Given the description of an element on the screen output the (x, y) to click on. 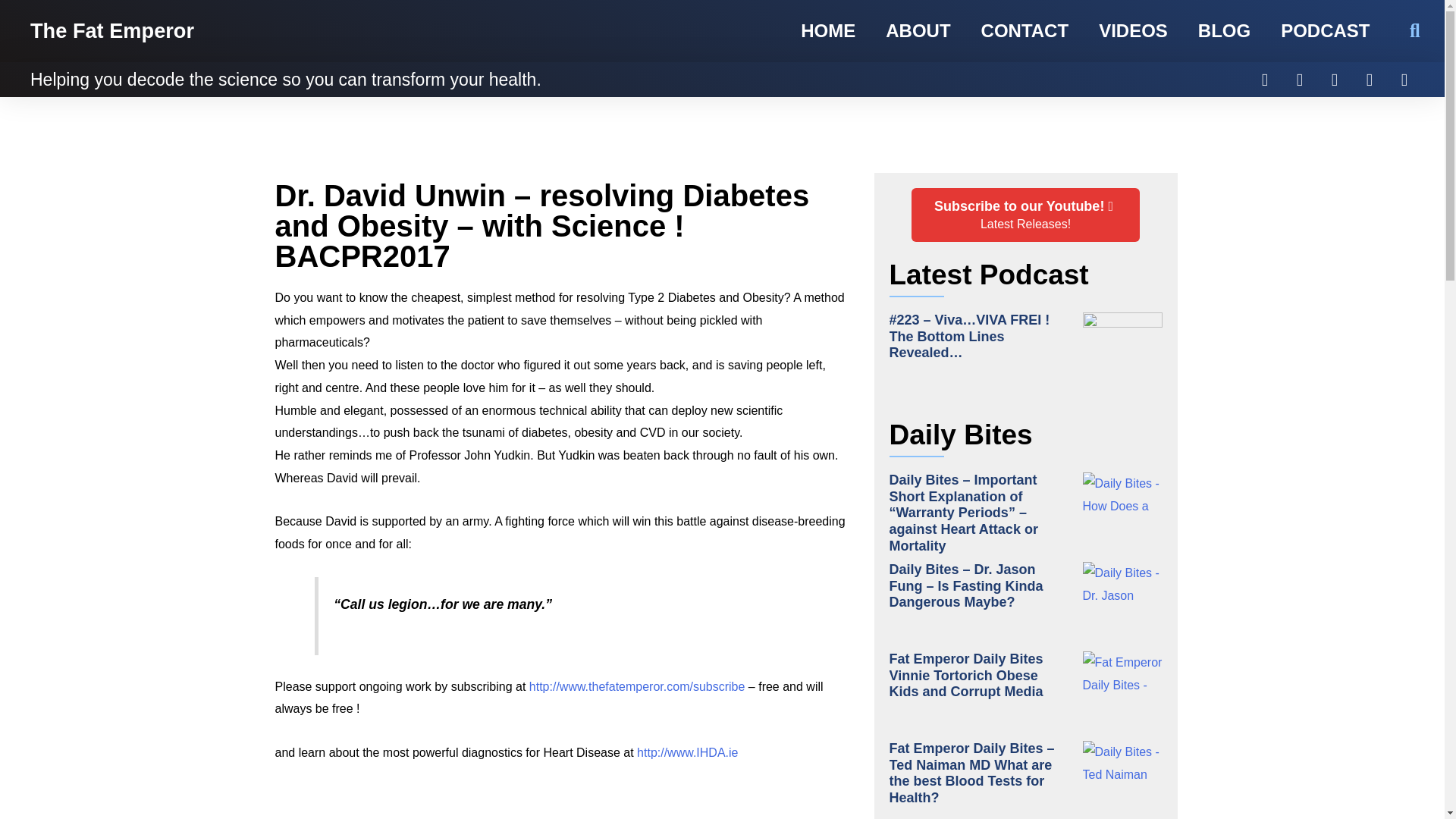
PODCAST (1324, 31)
CONTACT (1025, 31)
Youtube (1025, 214)
Linkedin-in (1369, 79)
Facebook-f (1404, 79)
Twitter (1264, 79)
The Fat Emperor (1299, 79)
VIDEOS (111, 30)
ABOUT (1132, 31)
HOME (917, 31)
Instagram (828, 31)
BLOG (1334, 79)
